Given the description of an element on the screen output the (x, y) to click on. 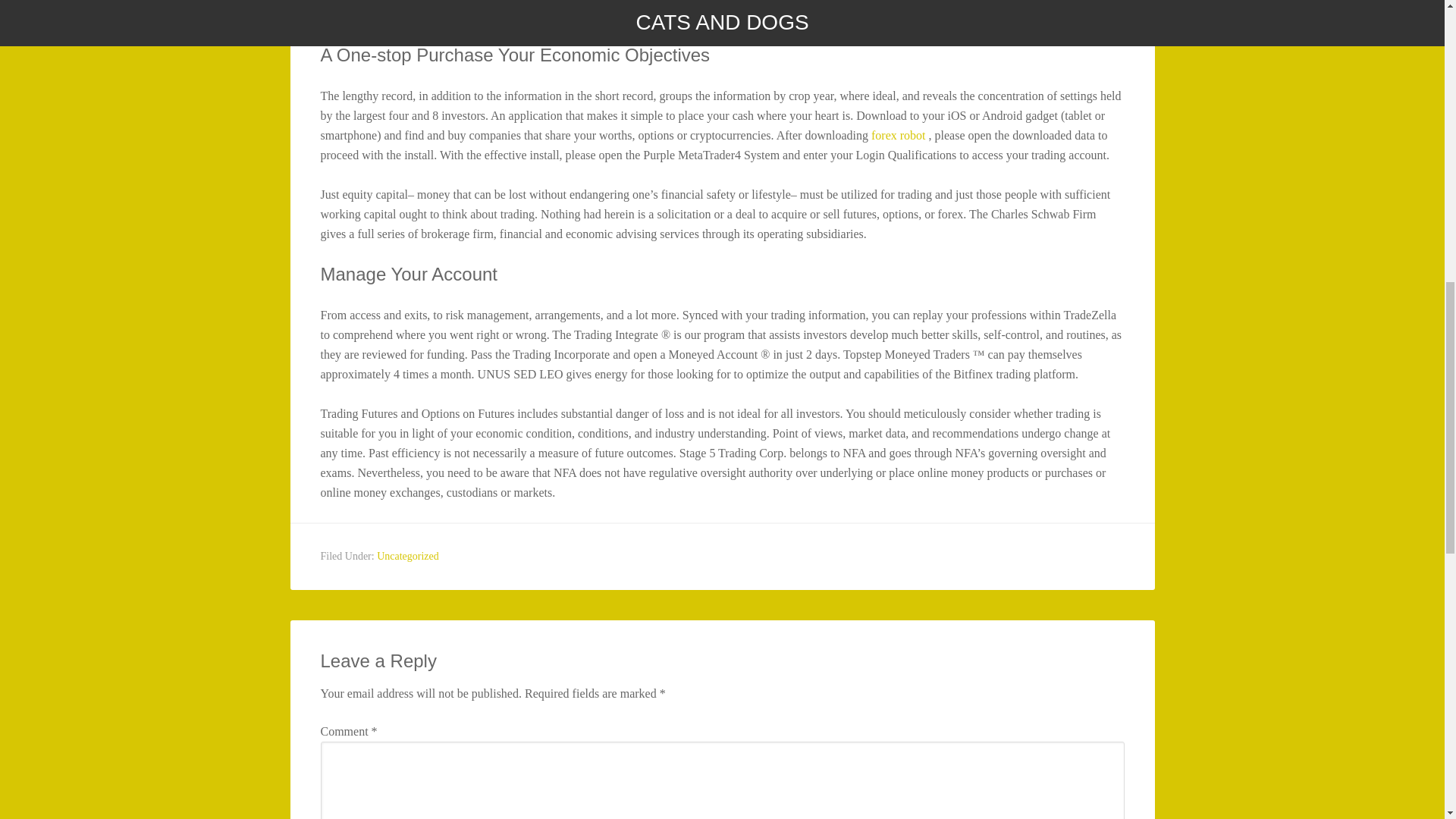
Uncategorized (408, 555)
forex robot (898, 134)
